Given the description of an element on the screen output the (x, y) to click on. 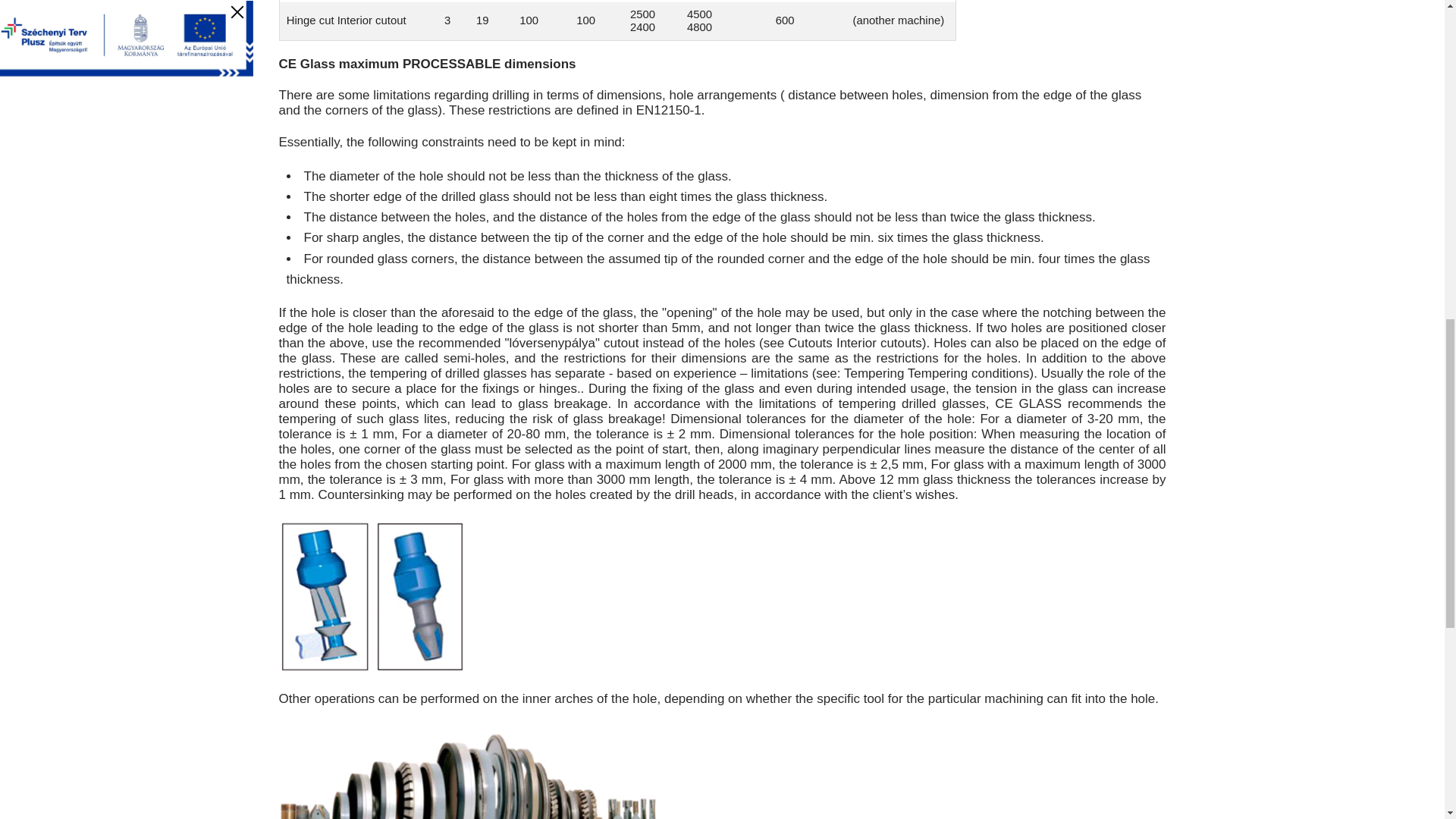
Glass Drilling CE Glass Industries (470, 770)
Glass Drilling CE Glass Industries (372, 596)
